Given the description of an element on the screen output the (x, y) to click on. 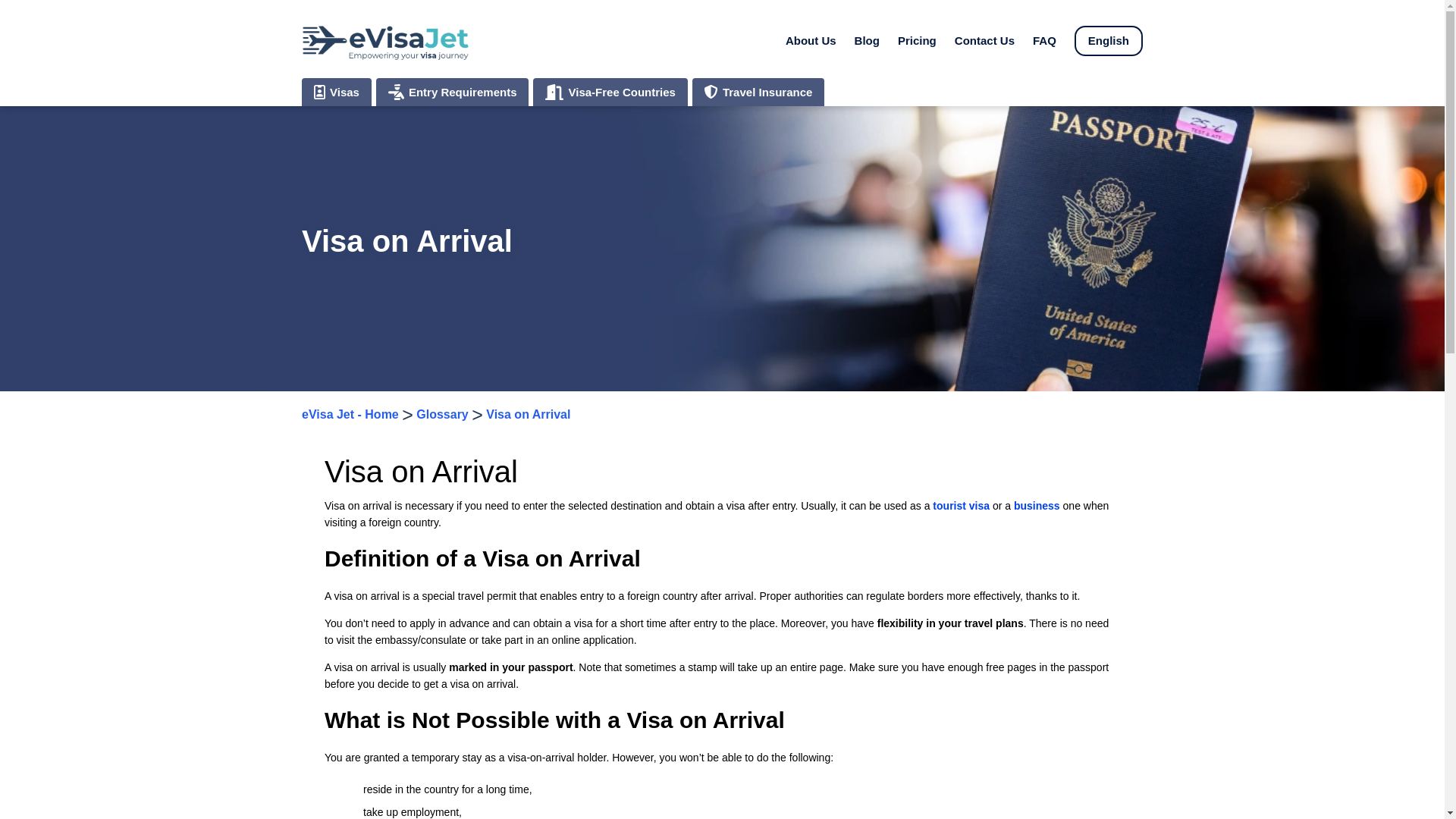
Pricing (917, 40)
Visa-Free Countries (609, 91)
Travel Insurance (758, 91)
Visas (336, 91)
About Us (810, 40)
Entry Requirements (452, 91)
tourist visa (961, 505)
Glossary (441, 413)
eVisa Jet - Home (349, 413)
Contact Us (984, 40)
